Given the description of an element on the screen output the (x, y) to click on. 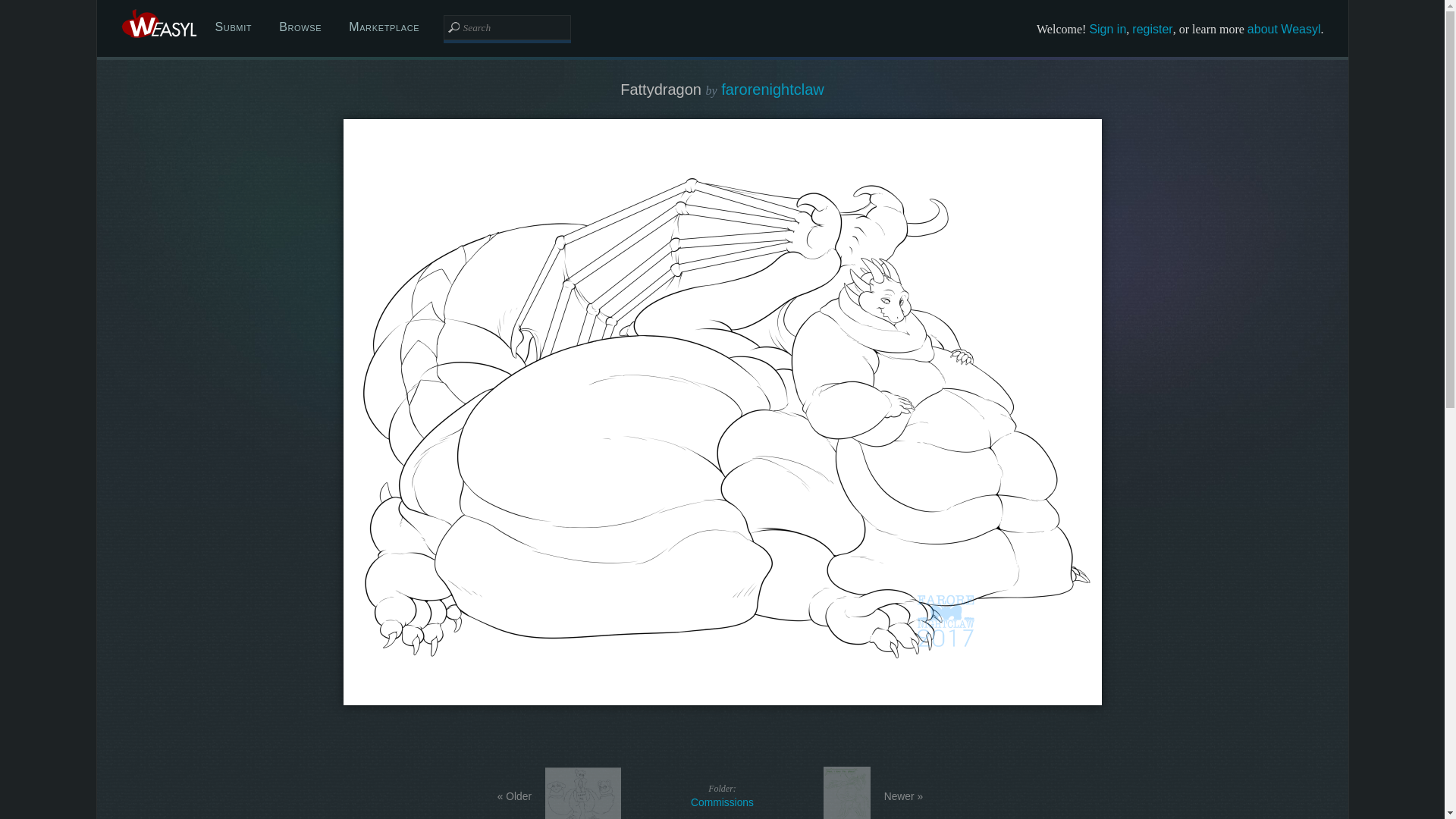
Submit (233, 27)
farorenightclaw (772, 89)
Sign in (1107, 29)
Marketplace (383, 27)
Search Weasyl (507, 27)
Browse (299, 27)
about Weasyl (1283, 29)
register (722, 795)
